Given the description of an element on the screen output the (x, y) to click on. 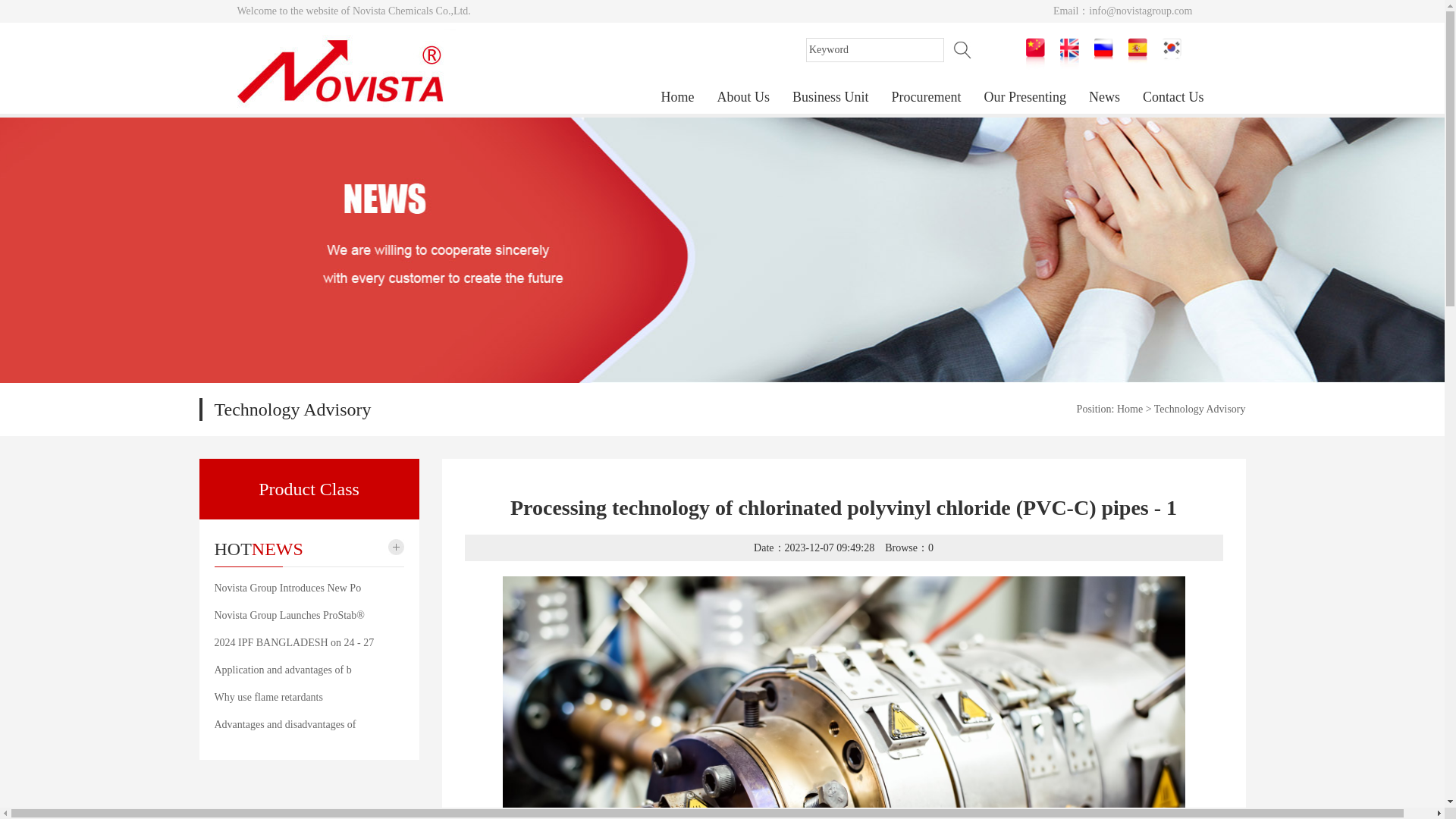
Home (678, 97)
Home (1129, 408)
 Keyword (874, 49)
Business Unit (830, 97)
About Us (743, 97)
Procurement (926, 97)
2024 IPF BANGLADESH on 24 - 27 (294, 642)
Novista Group Introduces New Po (287, 587)
Contact Us (1173, 97)
more (396, 546)
Our Presenting (1025, 97)
Application and advantages of brominated flame retardants (282, 669)
Why use flame retardants (267, 696)
